Given the description of an element on the screen output the (x, y) to click on. 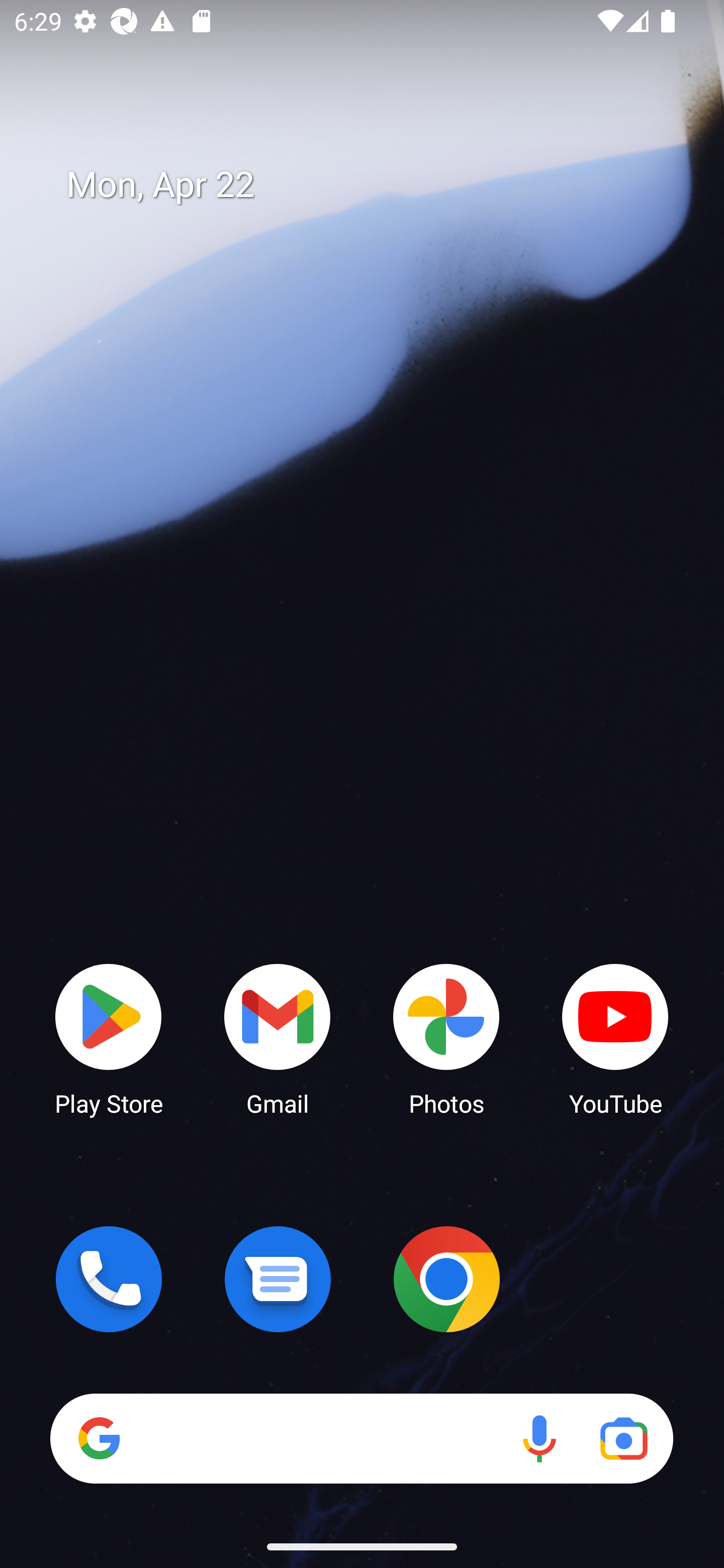
Mon, Apr 22 (375, 184)
Play Store (108, 1038)
Gmail (277, 1038)
Photos (445, 1038)
YouTube (615, 1038)
Phone (108, 1279)
Messages (277, 1279)
Chrome (446, 1279)
Search Voice search Google Lens (361, 1438)
Voice search (539, 1438)
Google Lens (623, 1438)
